Given the description of an element on the screen output the (x, y) to click on. 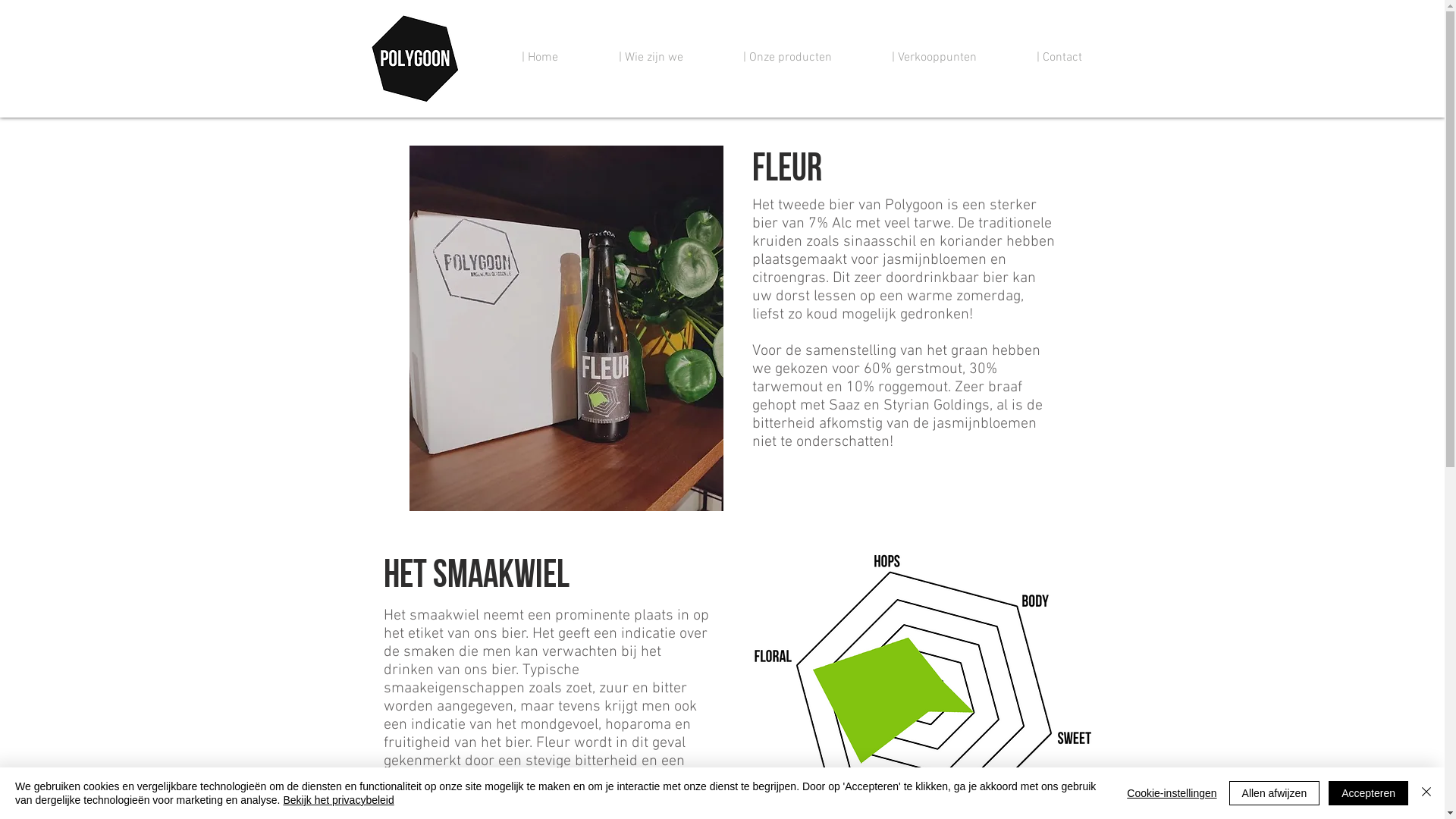
Bekijk het privacybeleid Element type: text (337, 799)
| Verkooppunten Element type: text (915, 58)
Allen afwijzen Element type: text (1274, 793)
Accepteren Element type: text (1368, 793)
| Wie zijn we Element type: text (630, 58)
| Home Element type: text (519, 58)
| Contact Element type: text (1039, 58)
